Given the description of an element on the screen output the (x, y) to click on. 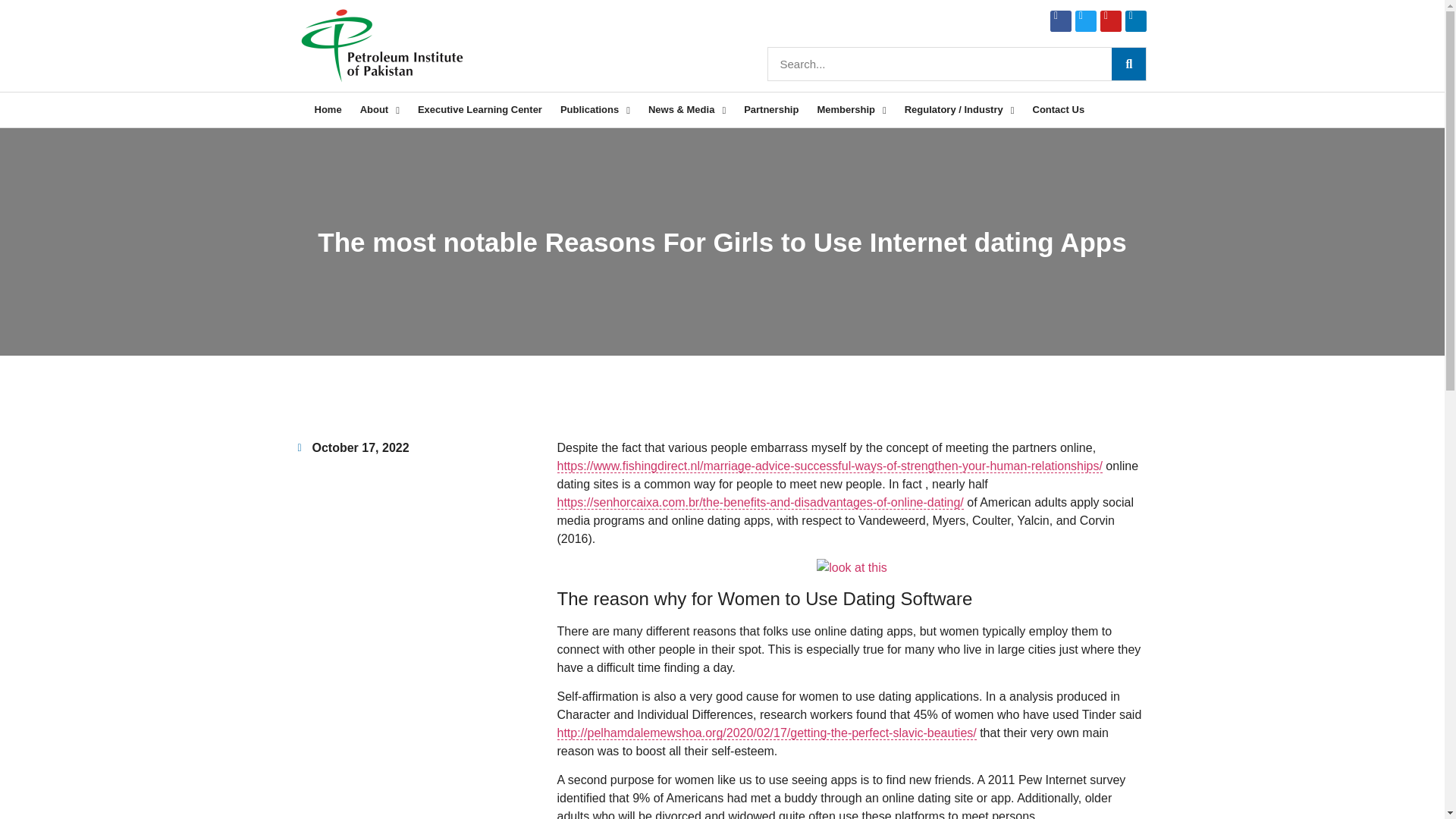
Home (327, 109)
Partnership (771, 109)
Membership (851, 109)
Search (1128, 63)
About (379, 109)
Publications (595, 109)
Executive Learning Center (480, 109)
Search (940, 63)
logo (380, 45)
